Given the description of an element on the screen output the (x, y) to click on. 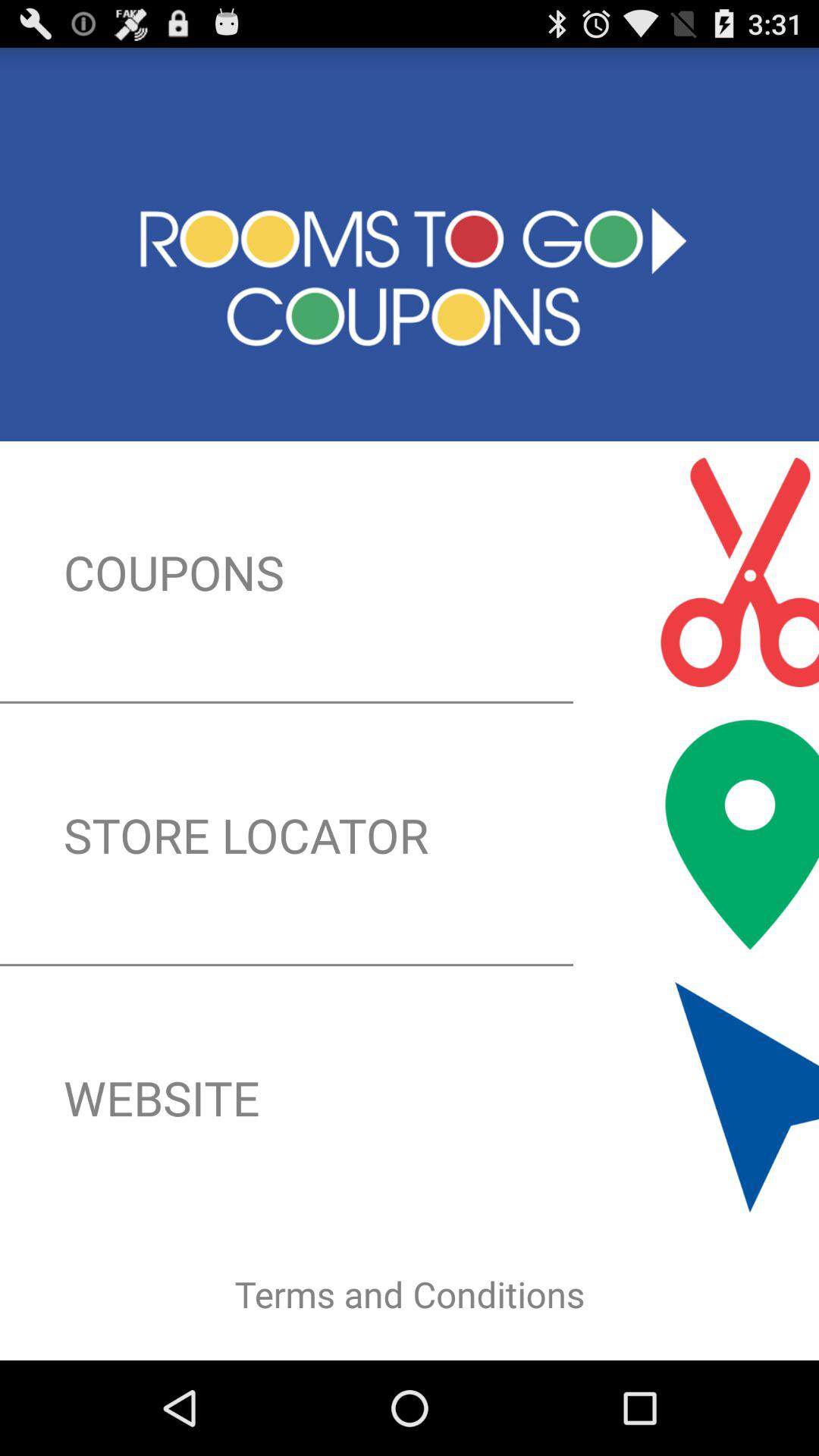
scroll until store locator icon (409, 834)
